Given the description of an element on the screen output the (x, y) to click on. 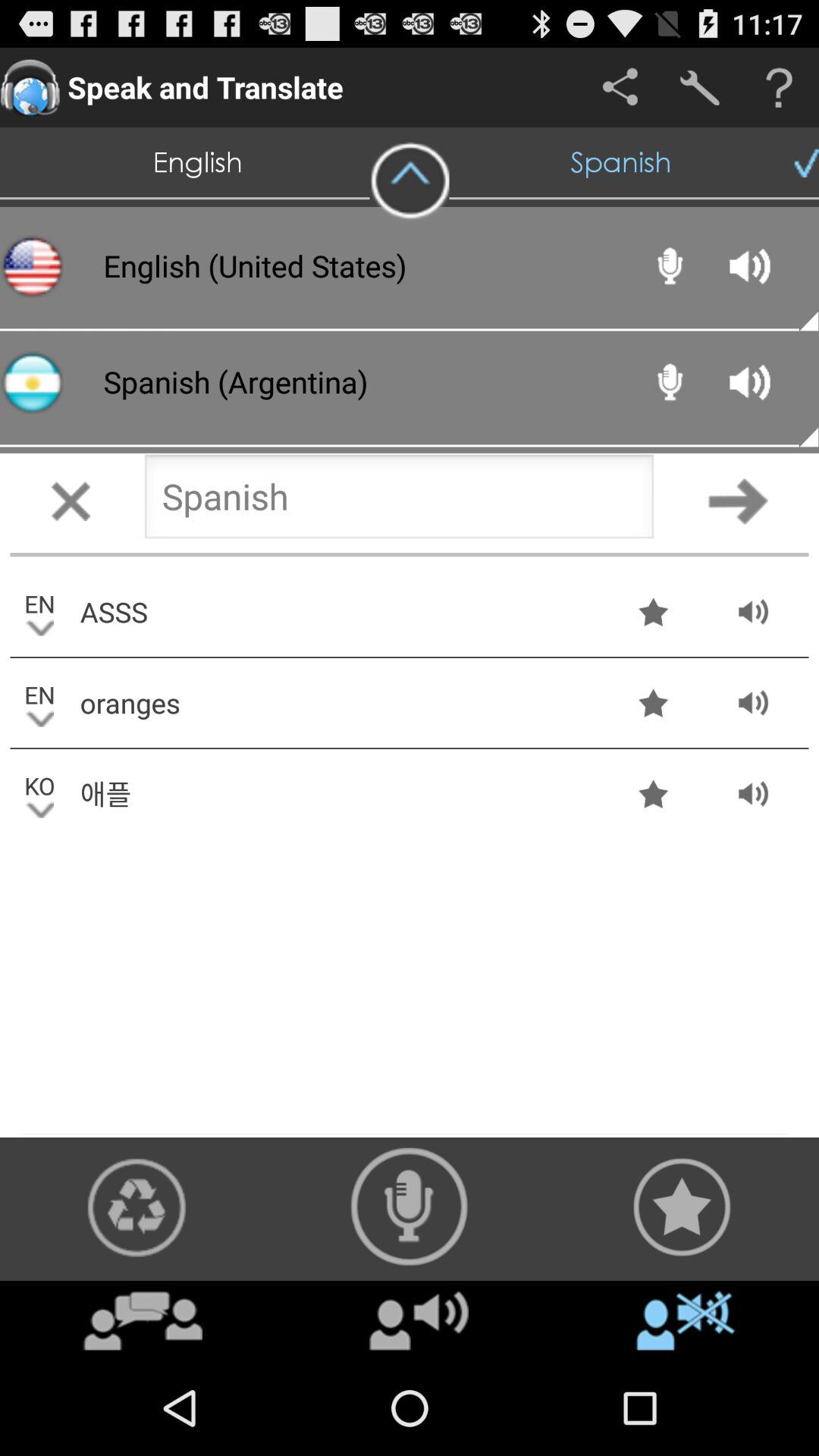
jump to item (418, 1320)
